Given the description of an element on the screen output the (x, y) to click on. 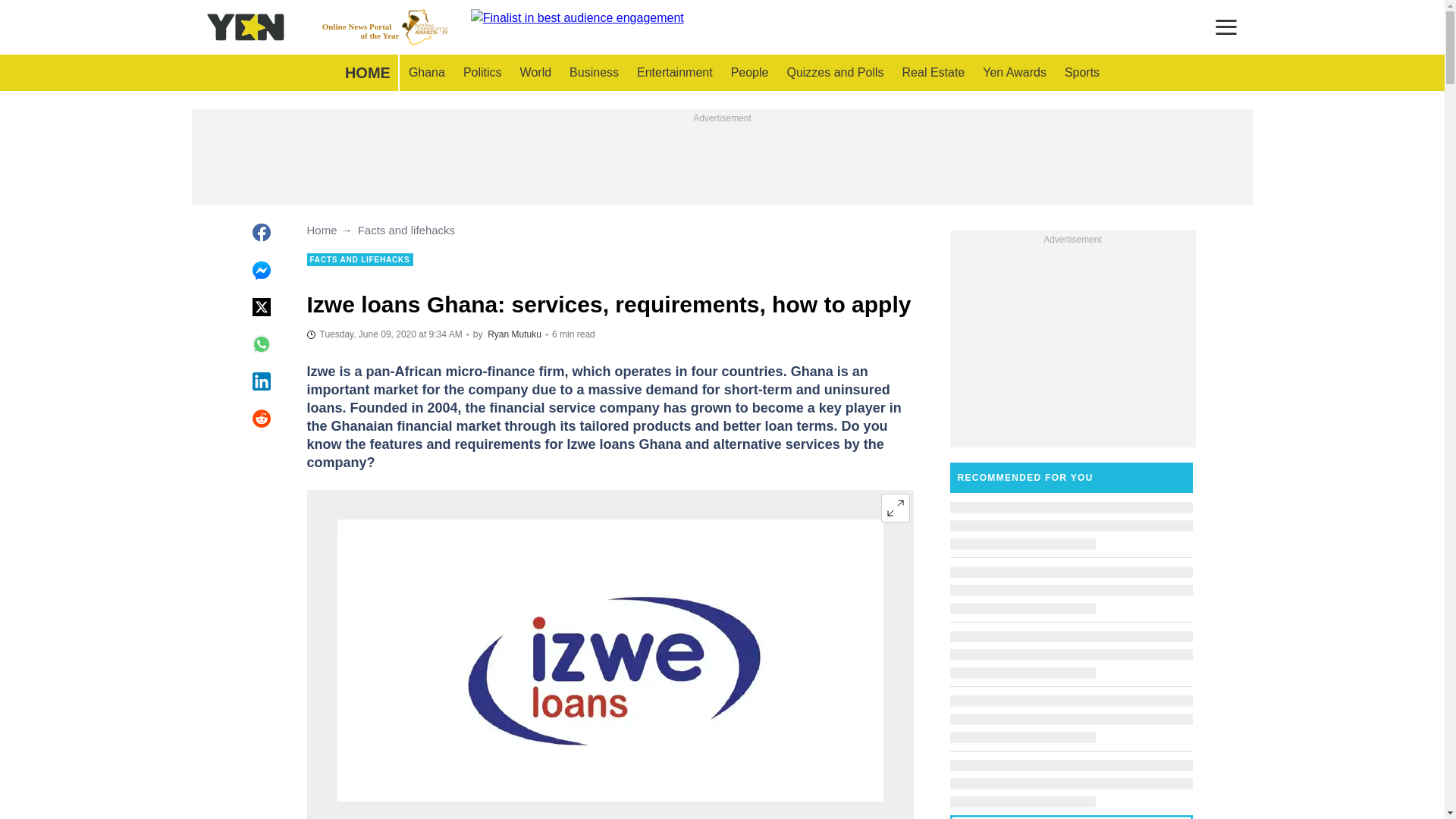
Politics (482, 72)
World (384, 27)
2020-06-09T09:34:33Z (535, 72)
Expand image (383, 334)
Quizzes and Polls (895, 507)
Real Estate (834, 72)
Sports (933, 72)
Business (1081, 72)
Author page (593, 72)
Yen Awards (514, 334)
HOME (1014, 72)
People (367, 72)
Ghana (749, 72)
Izwe loans Ghana: services, requirements, how to apply (426, 72)
